Given the description of an element on the screen output the (x, y) to click on. 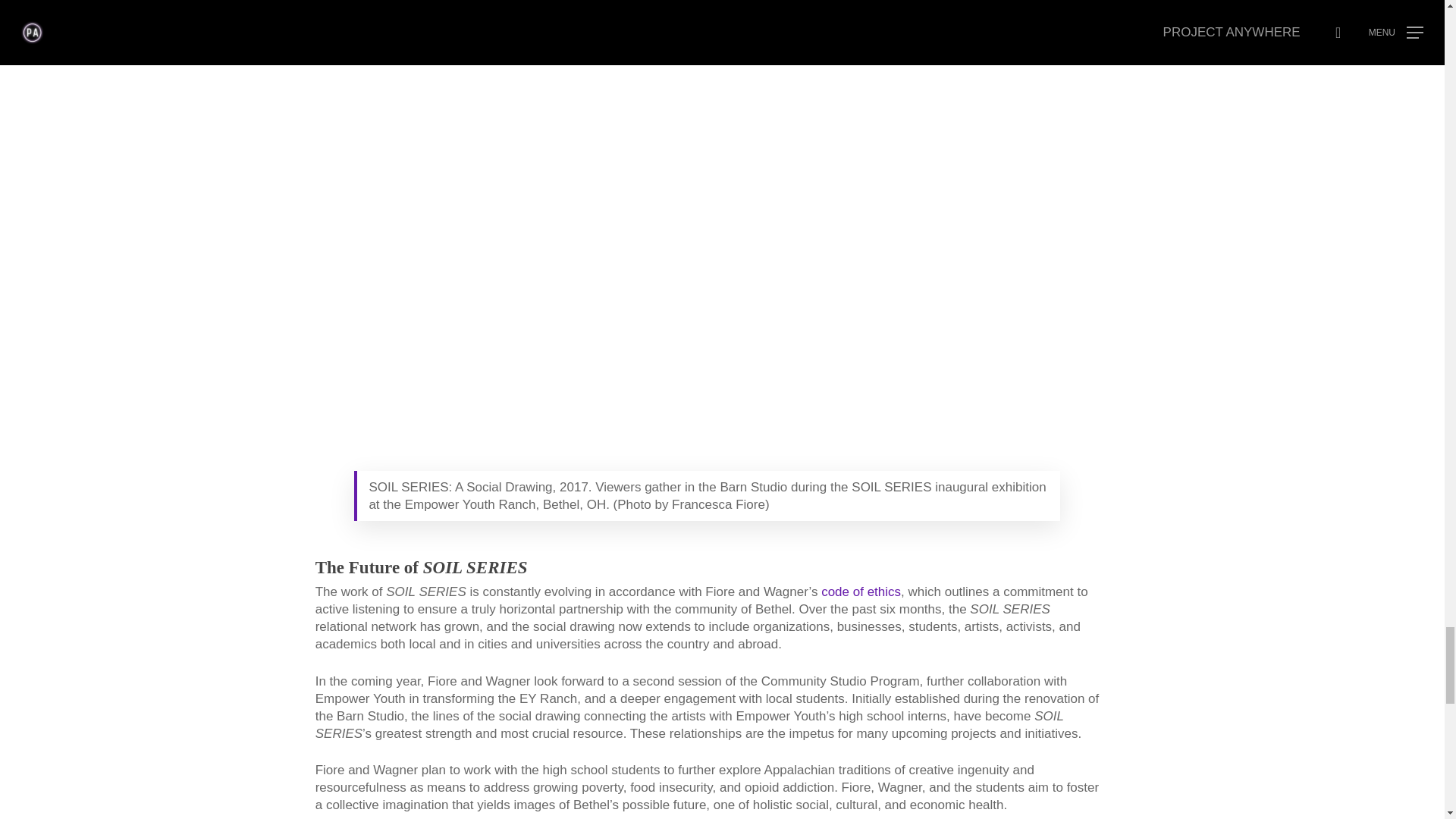
ode of ethics (864, 591)
